Given the description of an element on the screen output the (x, y) to click on. 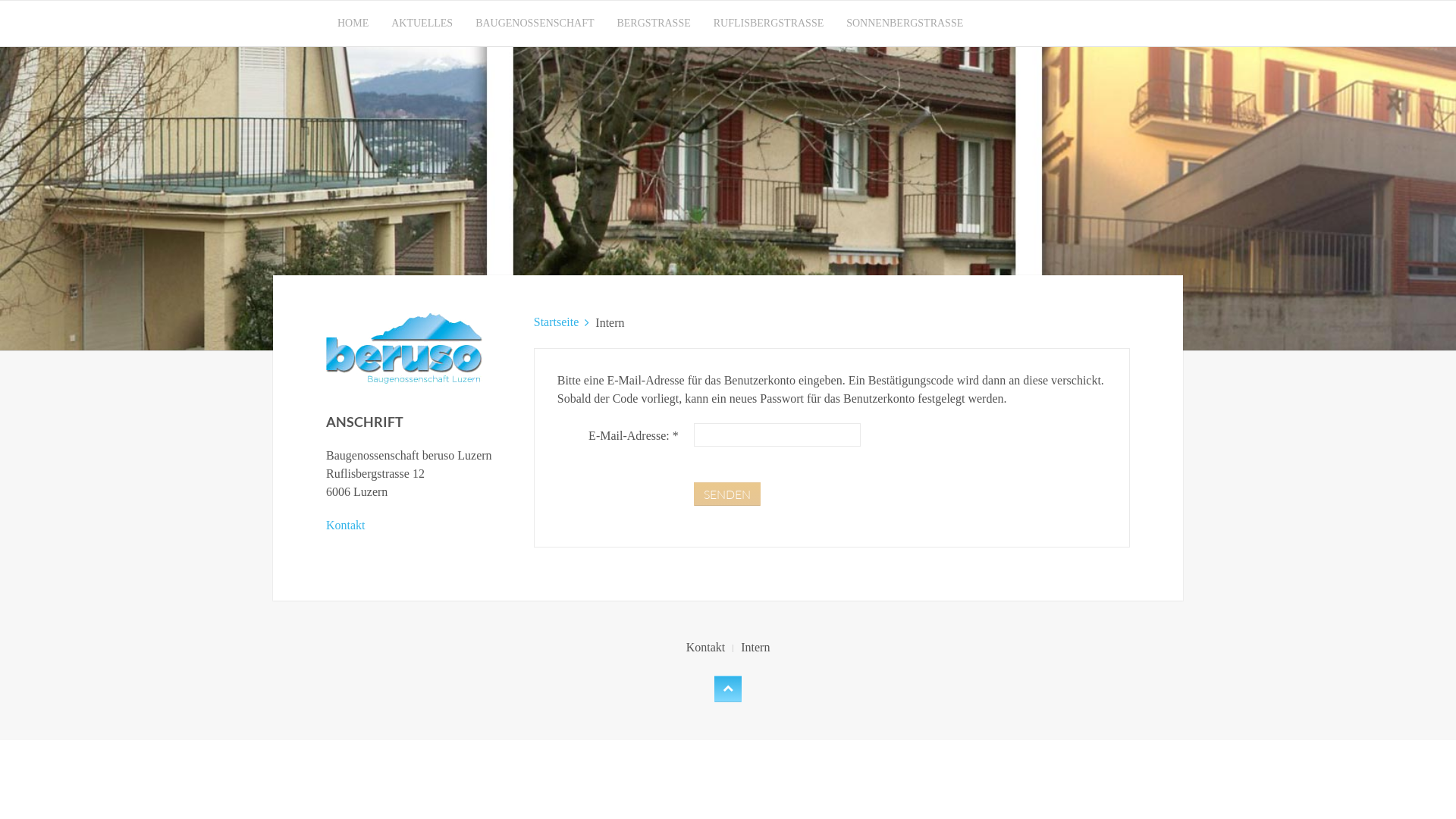
AKTUELLES Element type: text (421, 23)
RUFLISBERGSTRASSE Element type: text (768, 23)
Startseite Element type: text (556, 322)
Kontakt Element type: text (705, 647)
BAUGENOSSENSCHAFT Element type: text (534, 23)
HOME Element type: text (352, 23)
BERGSTRASSE Element type: text (653, 23)
Kontakt Element type: text (345, 524)
SONNENBERGSTRASSE Element type: text (904, 23)
SENDEN Element type: text (726, 493)
Intern Element type: text (754, 647)
